Given the description of an element on the screen output the (x, y) to click on. 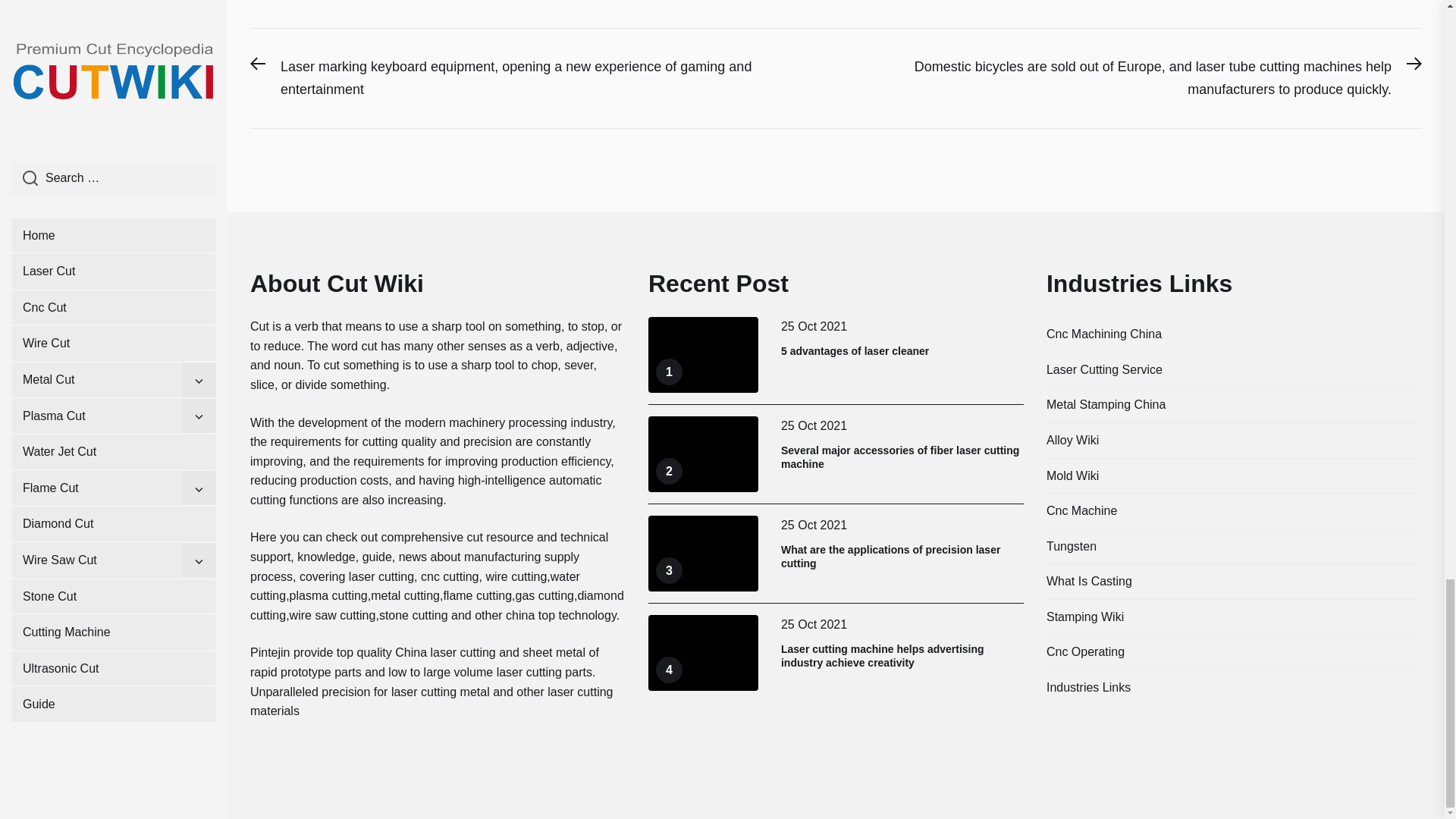
Several major accessories of fiber laser cutting machine (899, 457)
What are the applications of precision laser cutting (890, 556)
5 advantages of laser cleaner (854, 350)
